Given the description of an element on the screen output the (x, y) to click on. 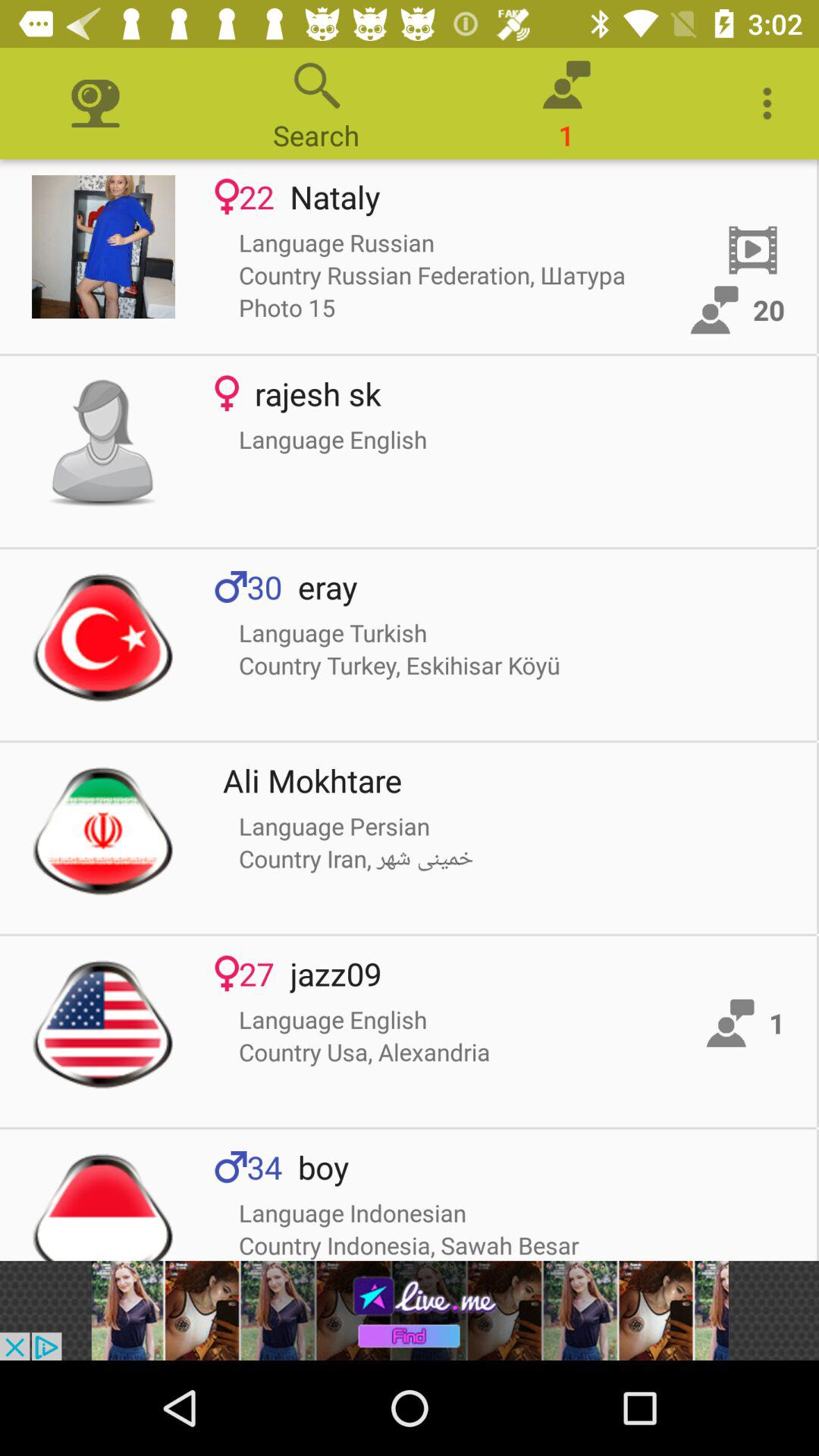
see advertisement (409, 1310)
